Given the description of an element on the screen output the (x, y) to click on. 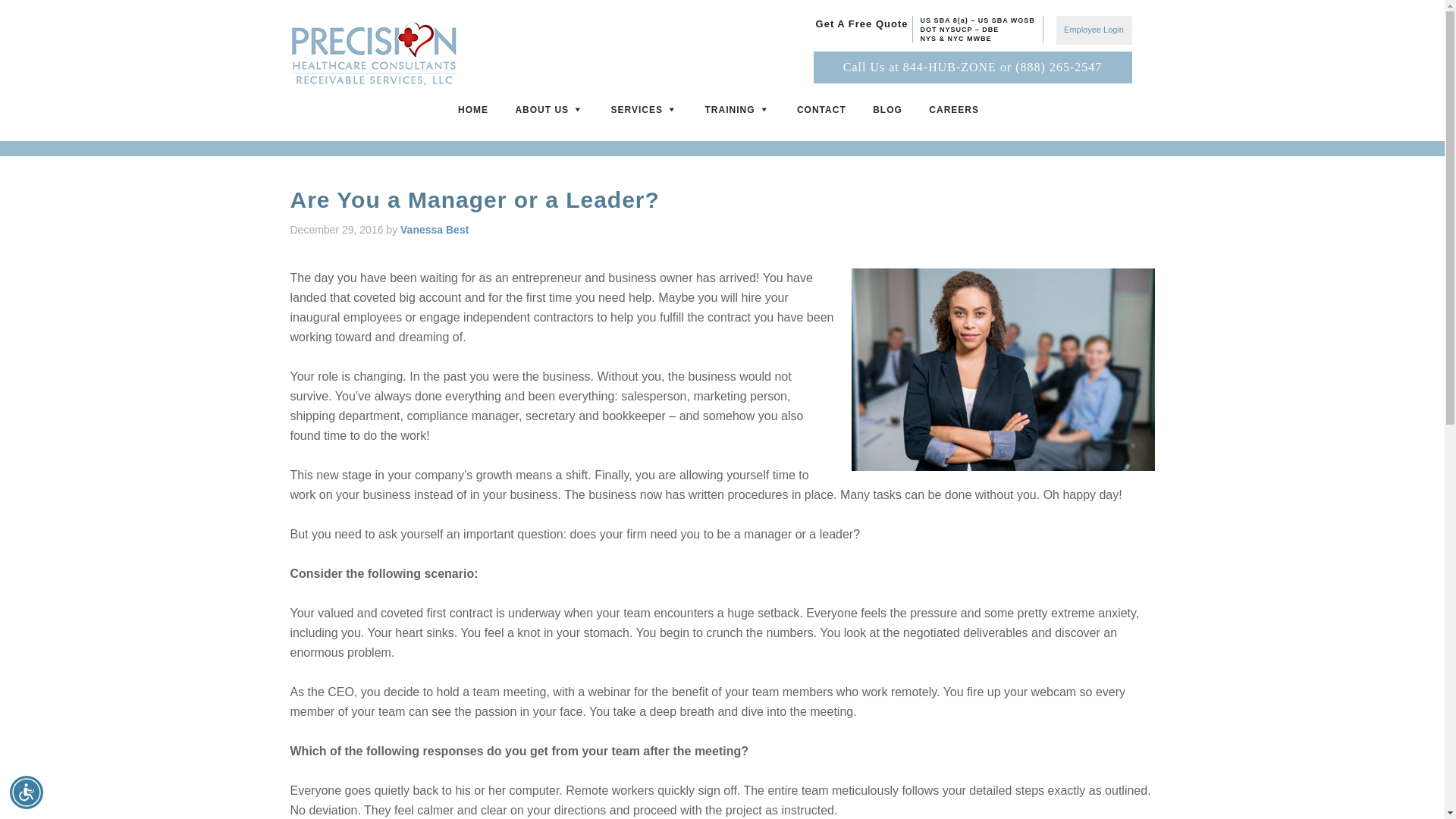
Employee Login (1094, 29)
TRAINING (741, 114)
BLOG (890, 114)
Get A Free Quote (861, 23)
CONTACT (825, 114)
Accessibility Menu (26, 792)
CAREERS (957, 114)
HOME (476, 114)
SERVICES (648, 114)
ABOUT US (552, 114)
Vanessa Best (434, 228)
844-HUB-ZONE (948, 66)
Precision HealthCare Consultants (373, 51)
